Given the description of an element on the screen output the (x, y) to click on. 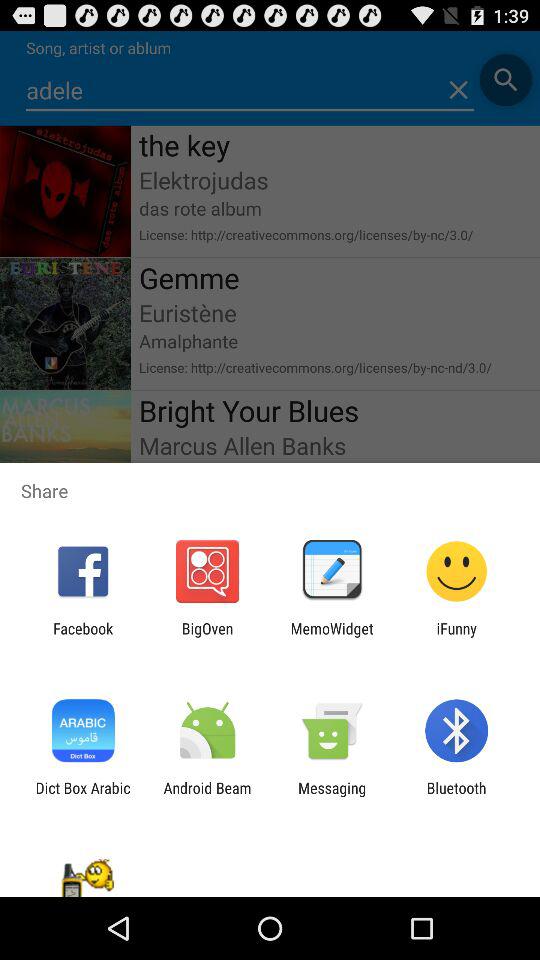
swipe until ifunny item (456, 637)
